Given the description of an element on the screen output the (x, y) to click on. 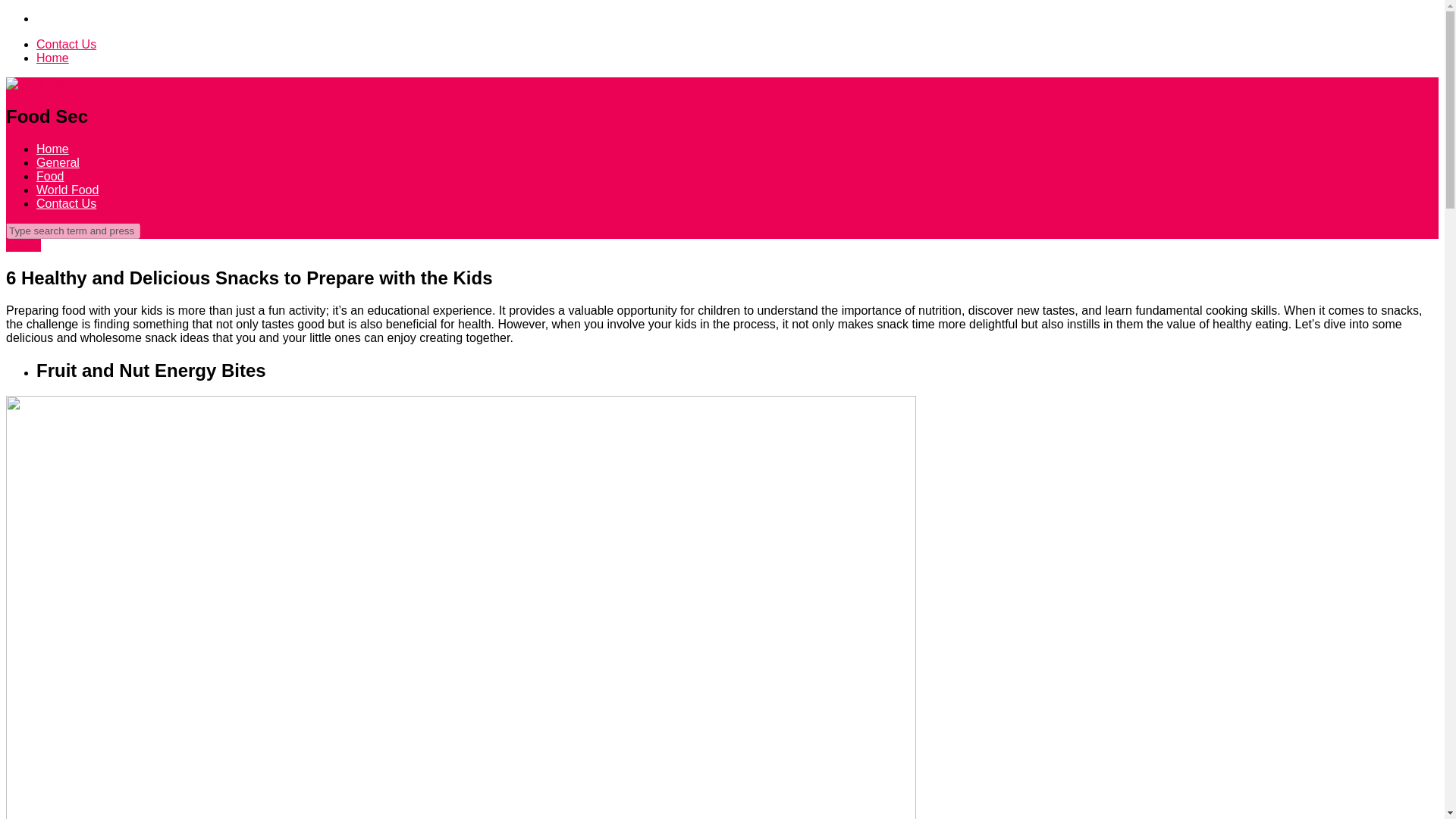
Home (52, 57)
Contact Us (66, 43)
Home (52, 148)
Contact Us (66, 203)
World Food (67, 189)
General (58, 162)
Health (22, 245)
Type search term and press enter (72, 230)
Food (50, 175)
